Given the description of an element on the screen output the (x, y) to click on. 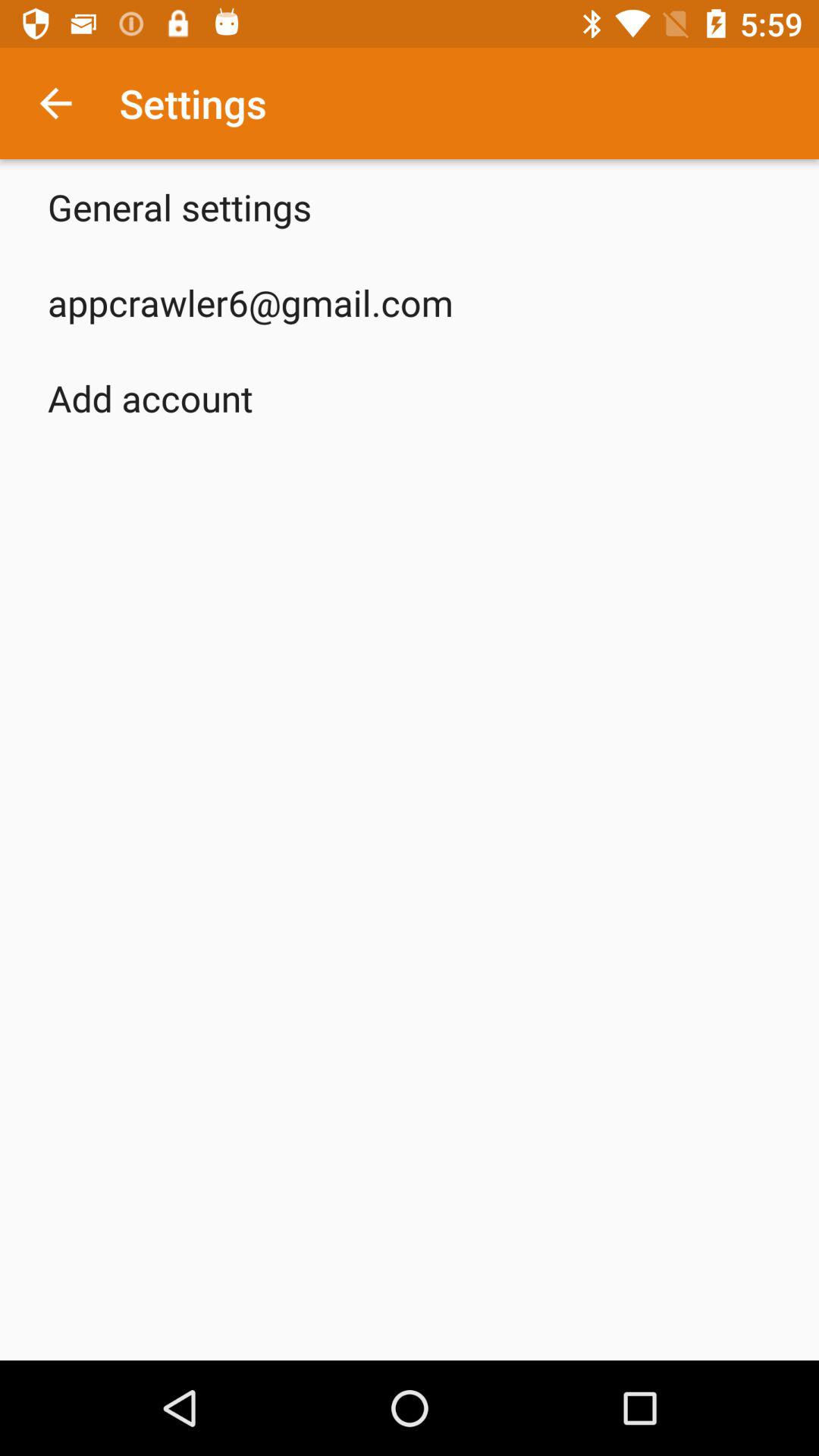
tap general settings app (179, 206)
